Given the description of an element on the screen output the (x, y) to click on. 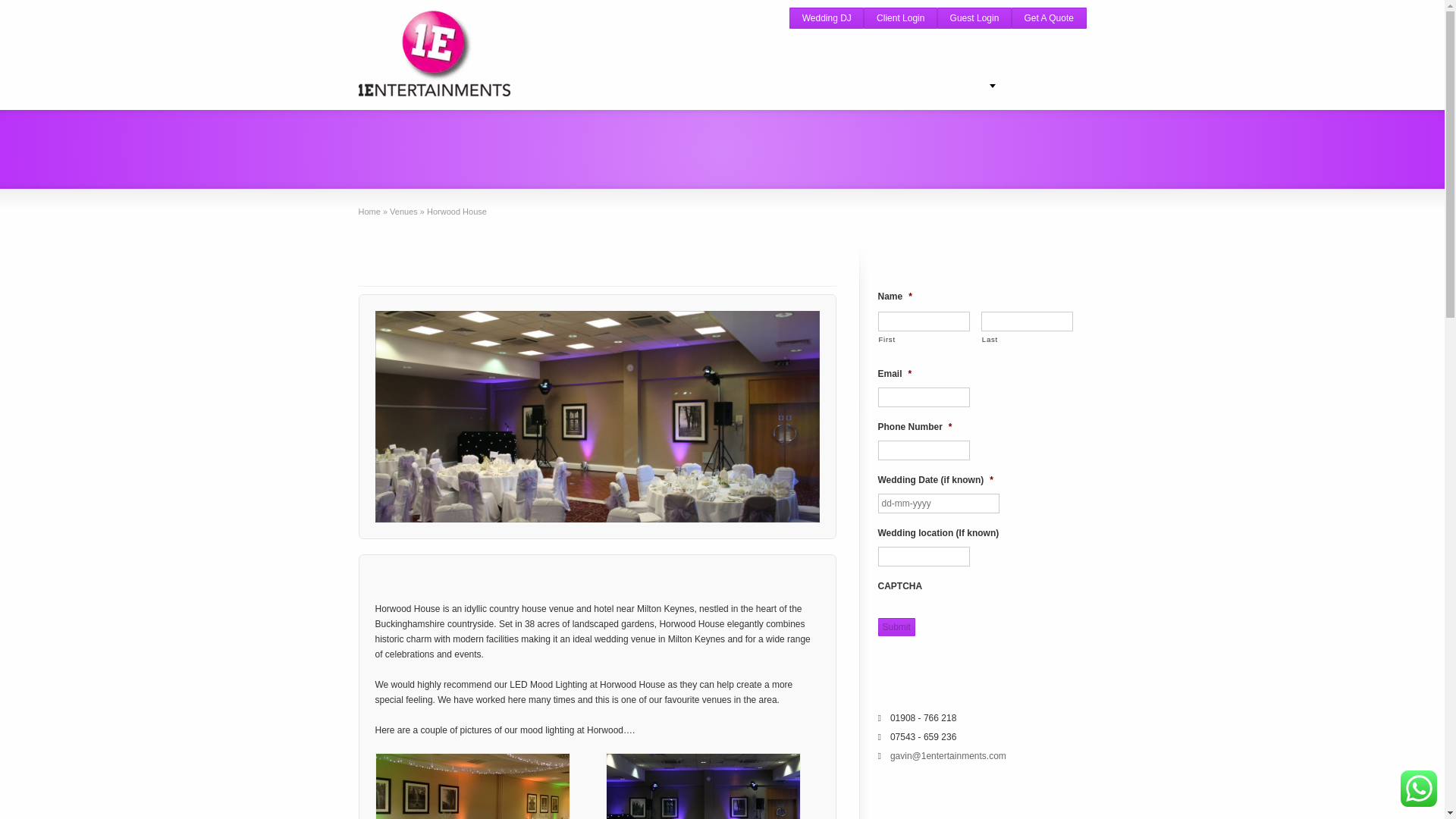
Wedding DJ Hire (593, 85)
Submit (896, 627)
Wedding DJ (826, 17)
Get A Quote (1048, 17)
Guest Login (974, 17)
Client Login (900, 17)
Wedding Lighting Hire (737, 85)
Submit (896, 627)
Home (369, 211)
Venues (403, 211)
Venues (403, 211)
Wedding DJ Hire (656, 85)
